Given the description of an element on the screen output the (x, y) to click on. 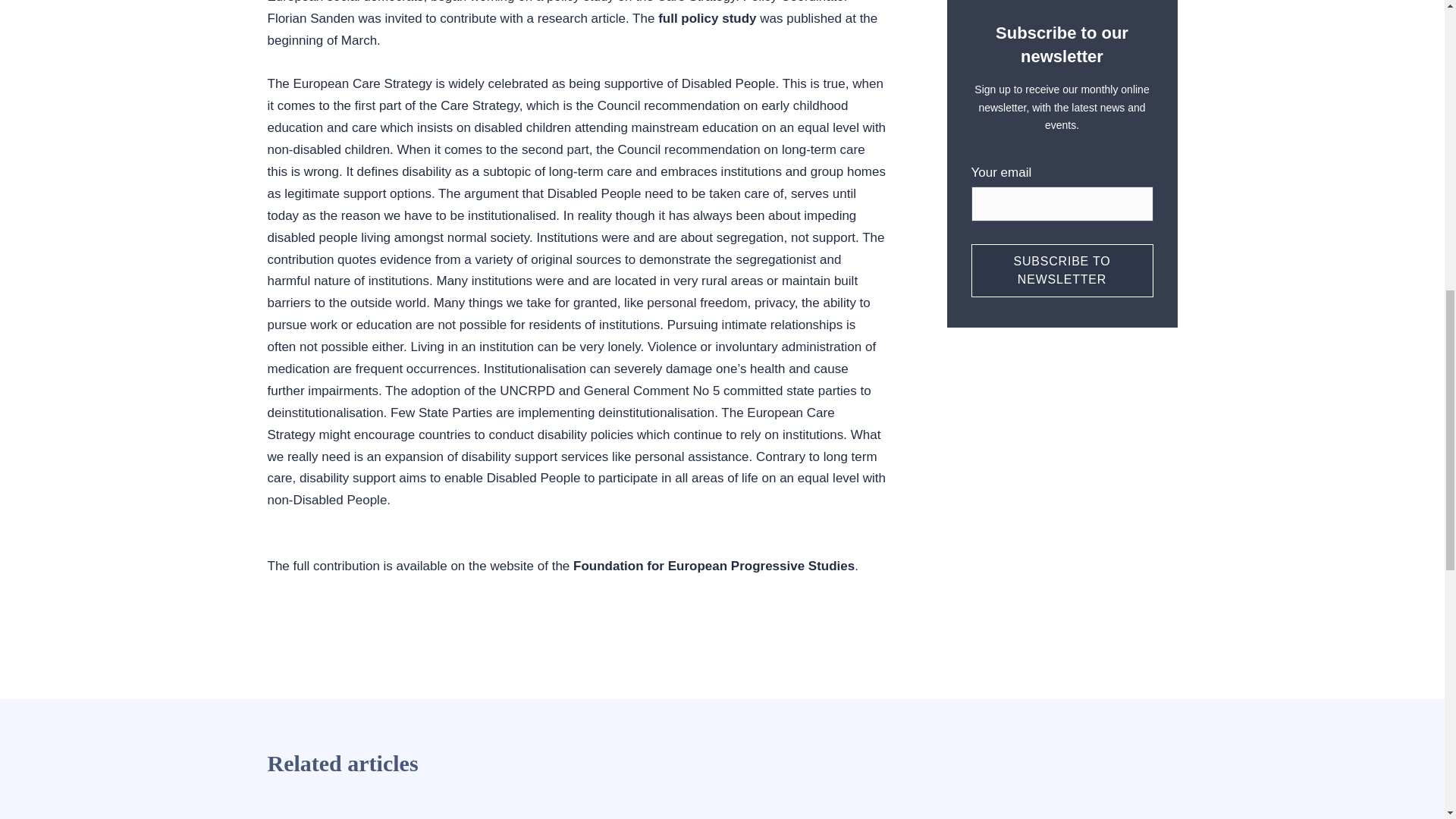
Subscribe to newsletter (1062, 270)
